Given the description of an element on the screen output the (x, y) to click on. 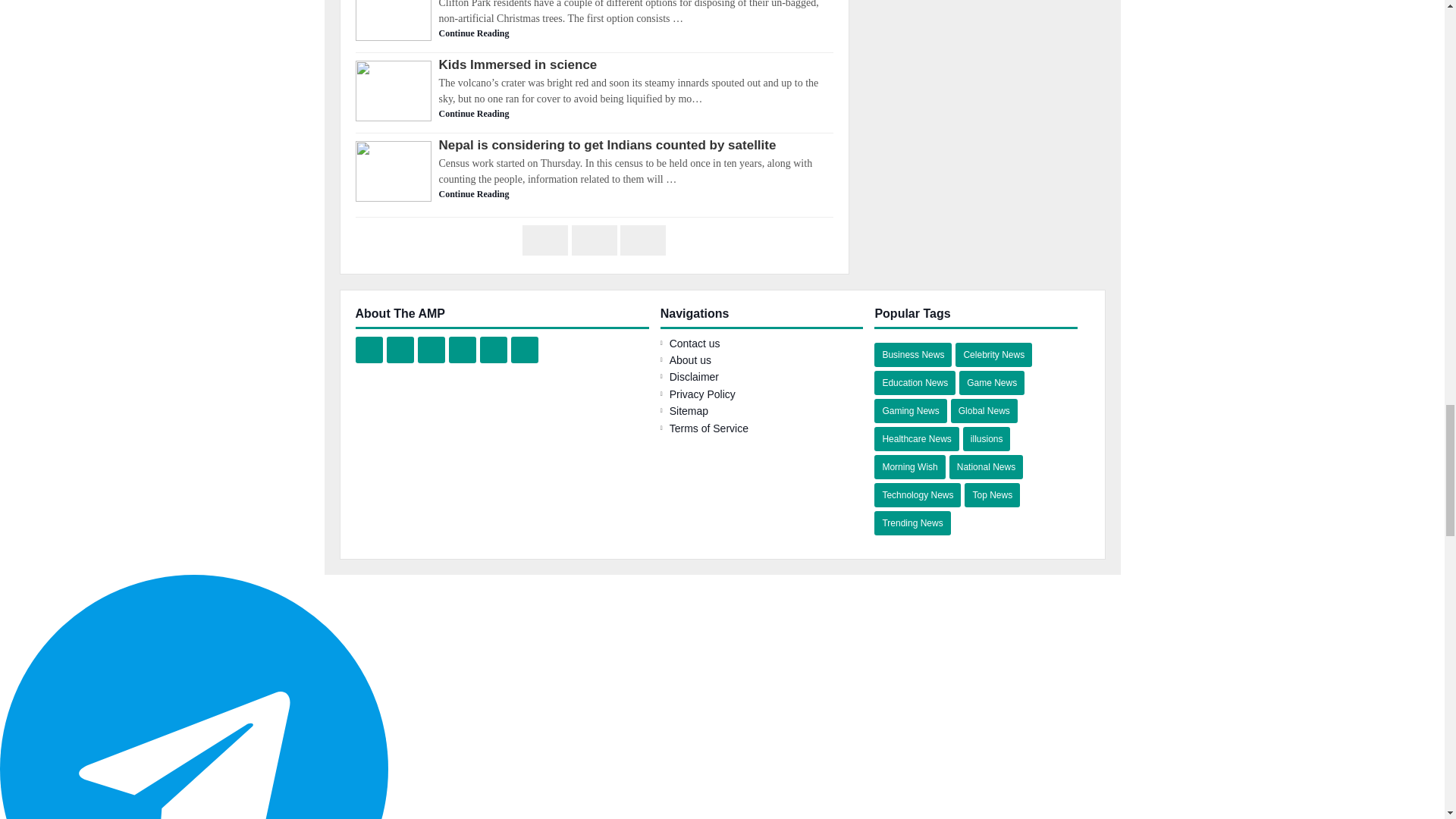
Kids Immersed in science (593, 64)
Nepal is considering to get Indians counted by satellite (593, 144)
Continue Reading (593, 193)
Continue Reading (593, 113)
Continue Reading (593, 33)
